Given the description of an element on the screen output the (x, y) to click on. 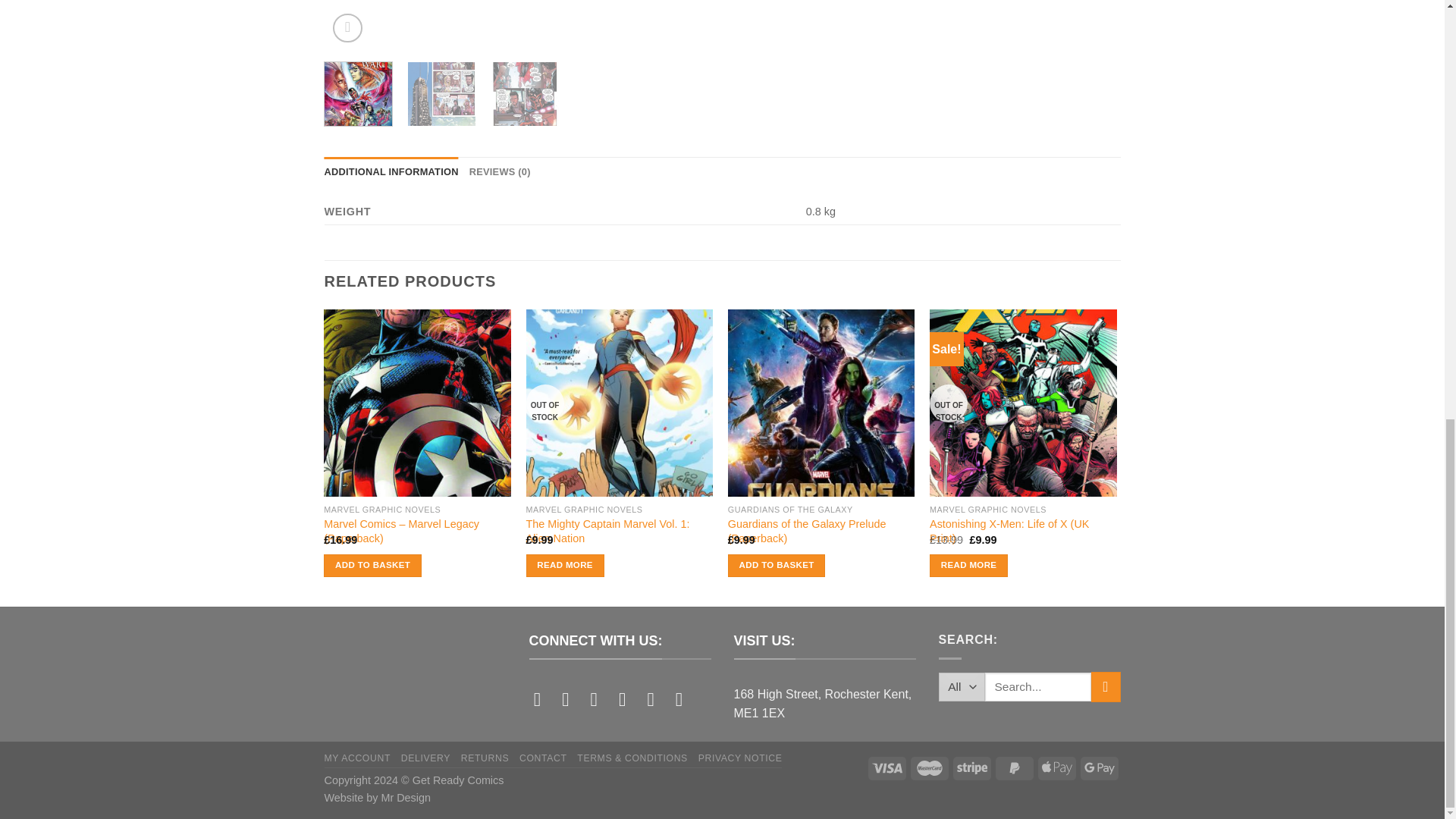
Zoom (347, 28)
